Given the description of an element on the screen output the (x, y) to click on. 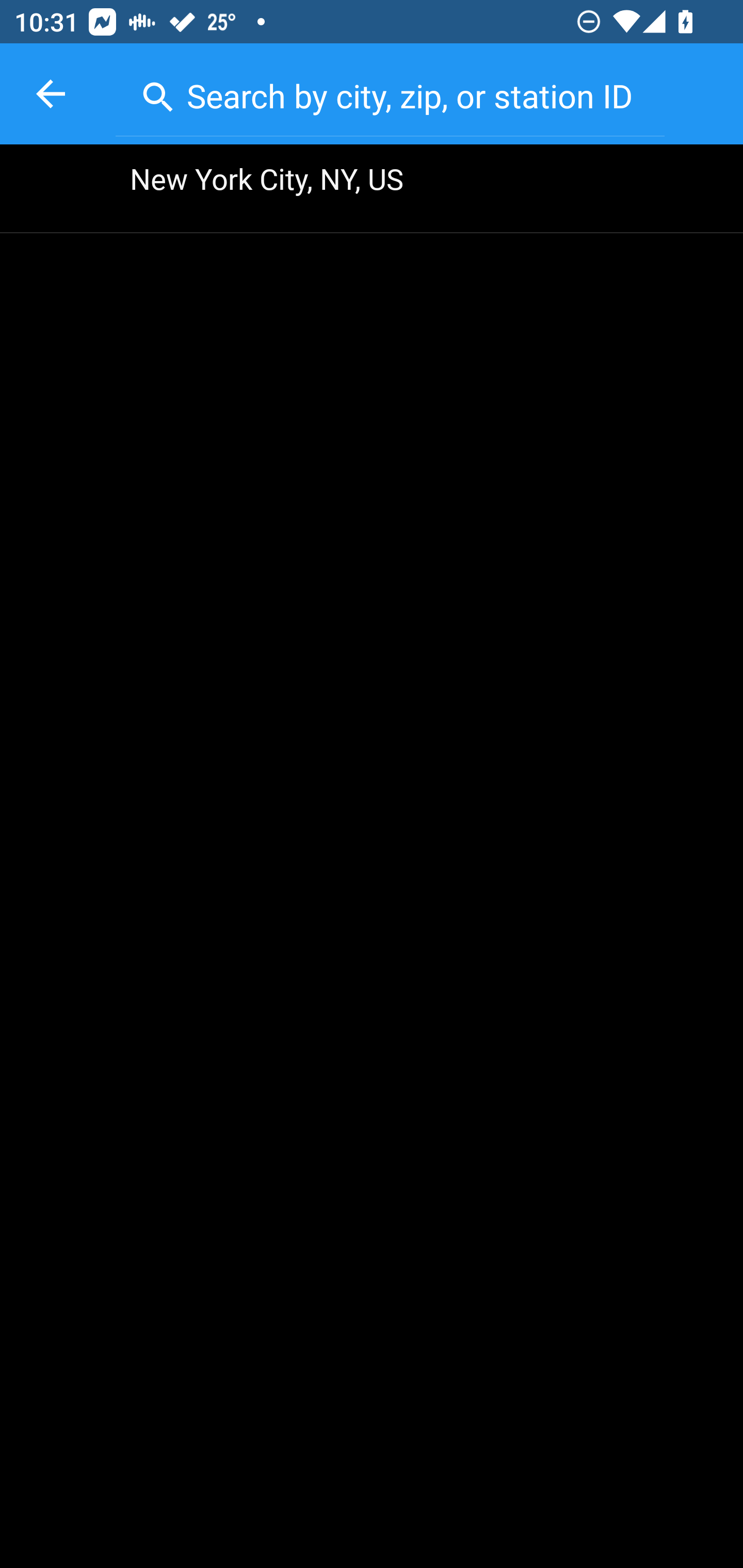
back (50, 93)
   Search by city, zip, or station ID (389, 92)
New York City, NY, US (371, 188)
